Given the description of an element on the screen output the (x, y) to click on. 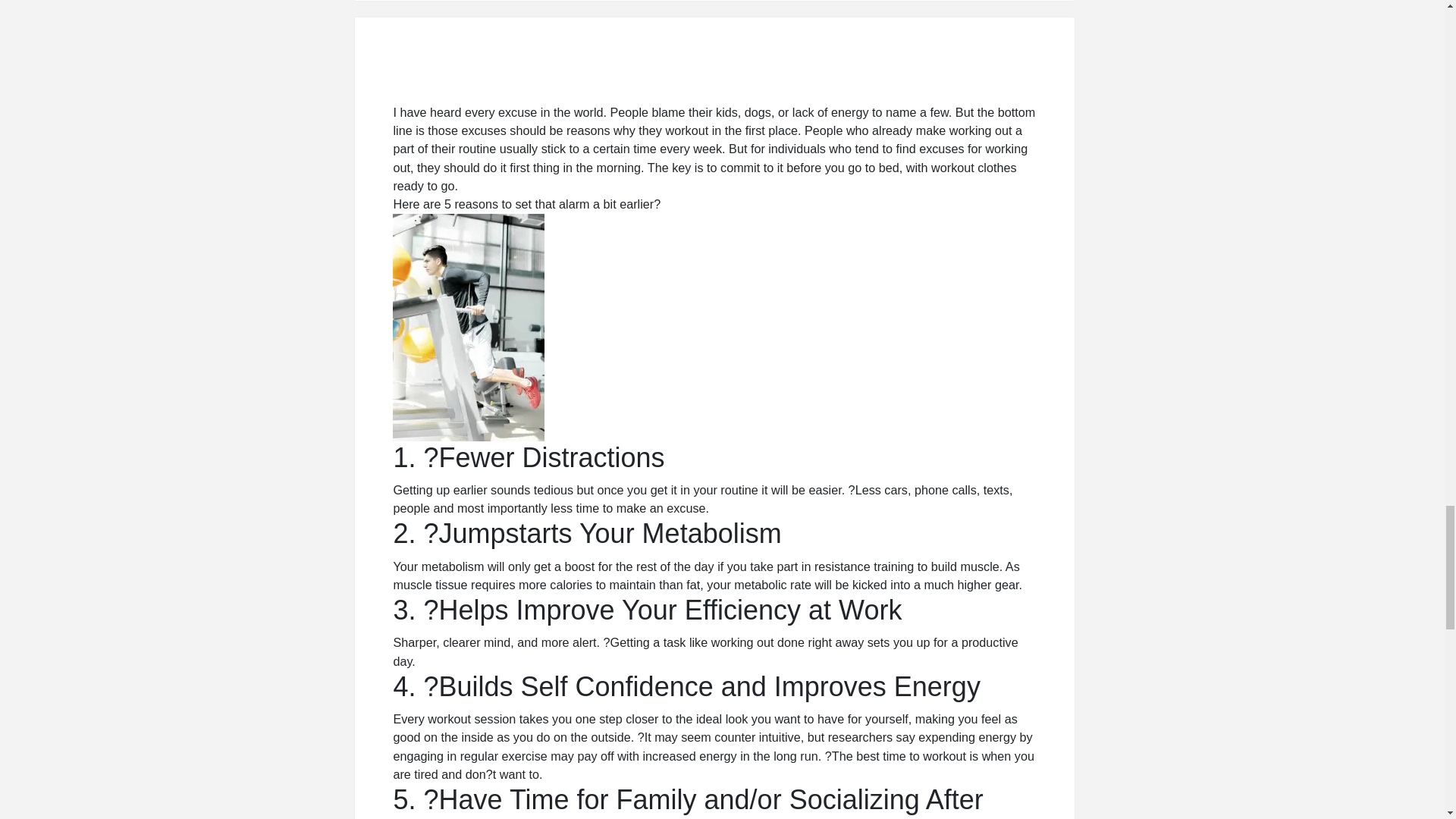
5 REASONS TO WORK OUT IN THE MORNING (714, 75)
